Given the description of an element on the screen output the (x, y) to click on. 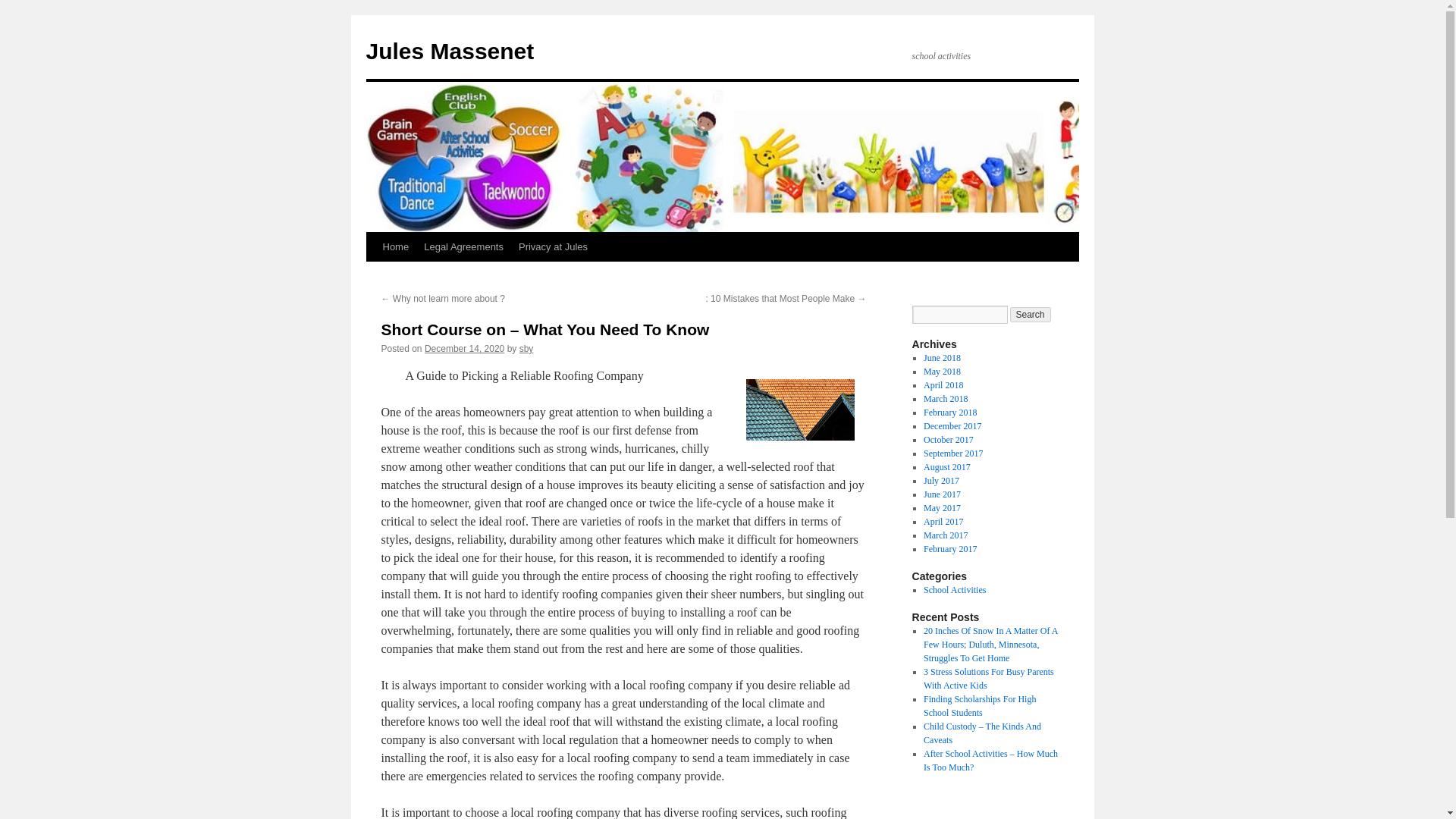
August 2017 (947, 466)
Jules Massenet (449, 50)
September 2017 (952, 452)
May 2017 (941, 507)
Jules Massenet (449, 50)
March 2017 (945, 534)
Finding Scholarships For High School Students (979, 705)
October 2017 (948, 439)
Legal Agreements (463, 246)
July 2017 (941, 480)
March 2018 (945, 398)
View all posts by sby (526, 348)
February 2017 (949, 548)
Privacy at Jules (553, 246)
